Given the description of an element on the screen output the (x, y) to click on. 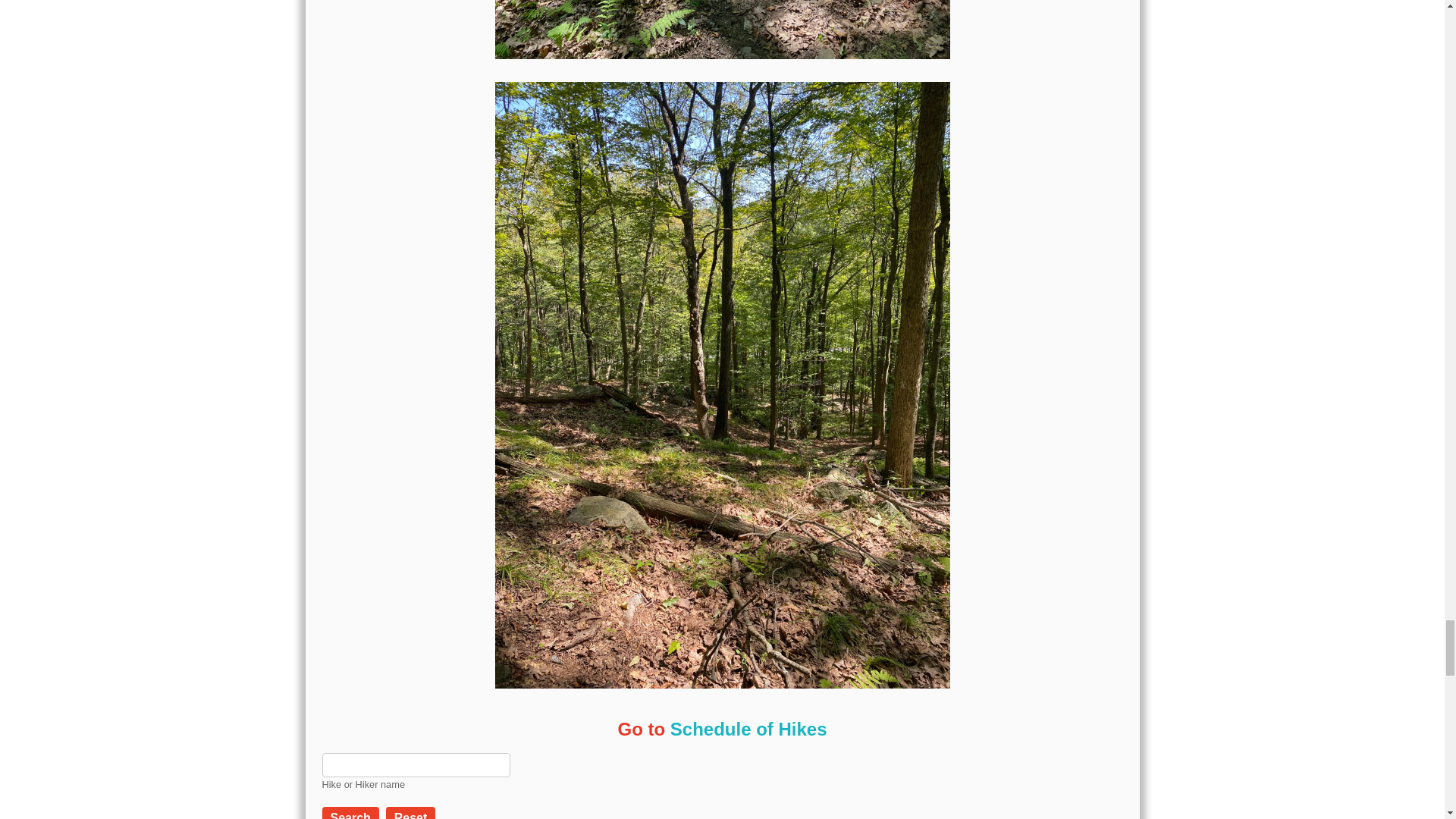
Schedule of Hikes (748, 729)
Schedule of Hikes (748, 729)
Reset (410, 814)
Search (349, 812)
Reset (410, 812)
